Given the description of an element on the screen output the (x, y) to click on. 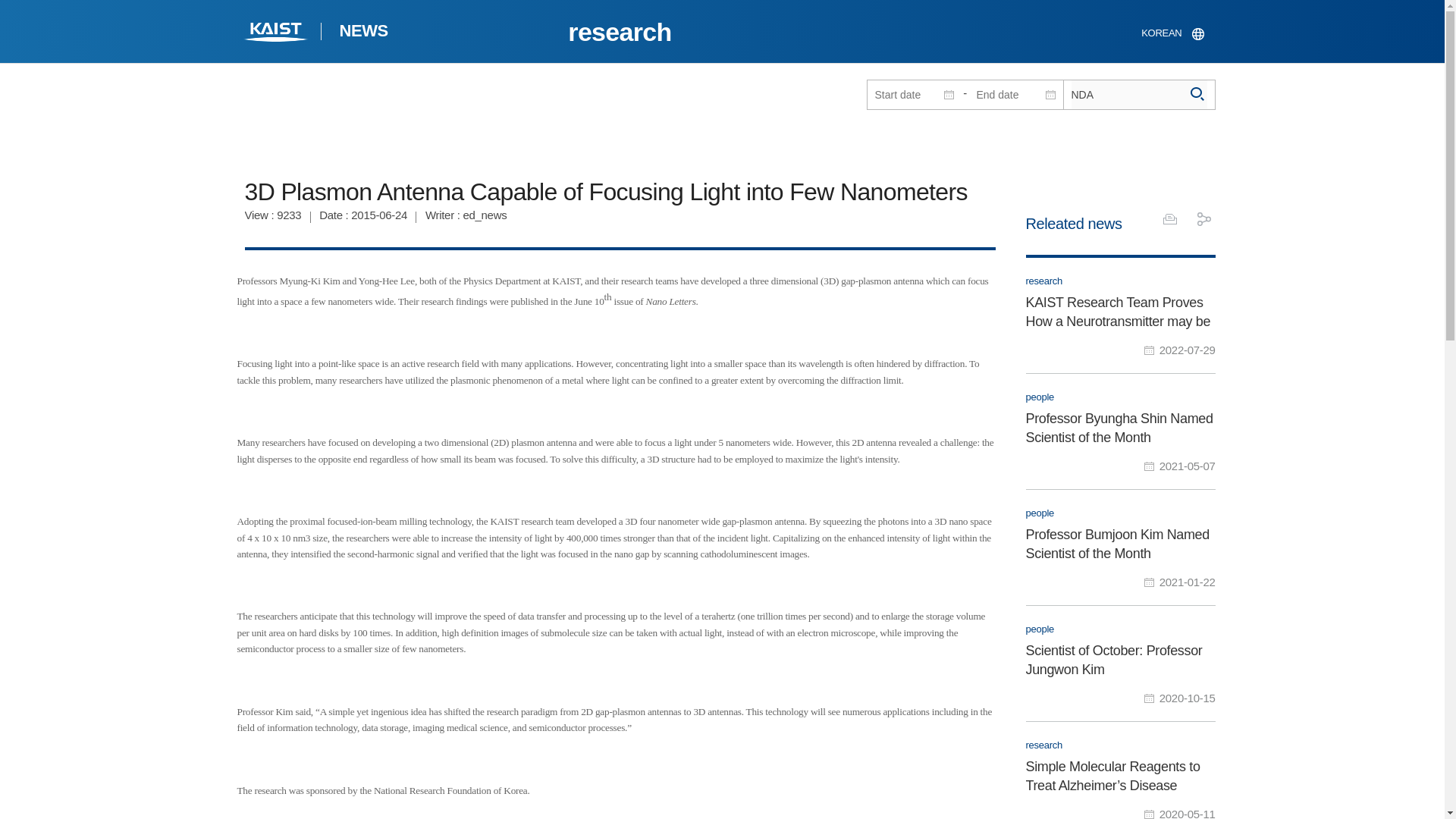
KAIST (276, 33)
NEWS (363, 33)
NDA (1138, 94)
Input a Keyword (1138, 94)
KOREAN (1171, 33)
